Given the description of an element on the screen output the (x, y) to click on. 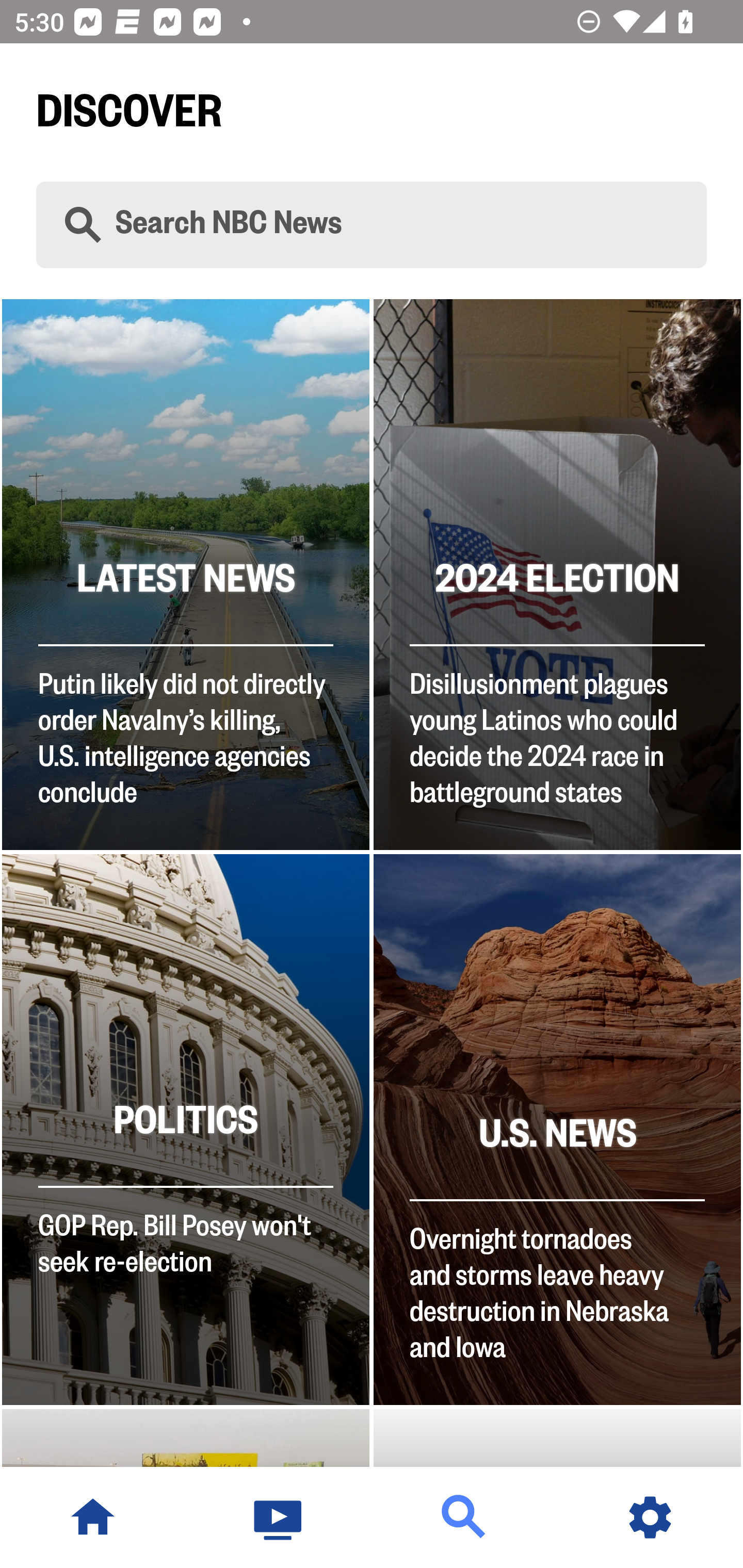
NBC News Home (92, 1517)
Watch (278, 1517)
Settings (650, 1517)
